Given the description of an element on the screen output the (x, y) to click on. 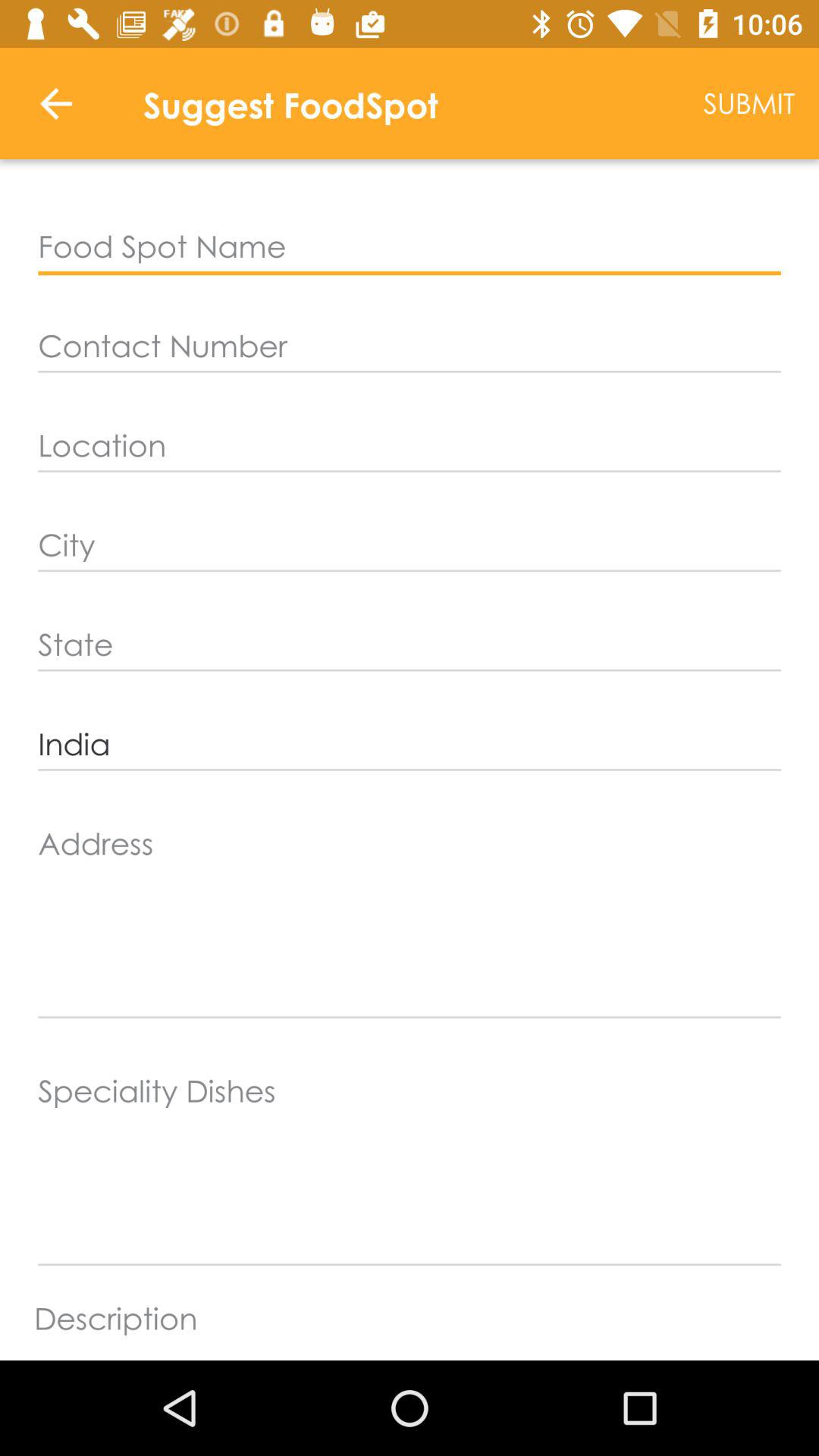
select the item above the india item (409, 645)
